Given the description of an element on the screen output the (x, y) to click on. 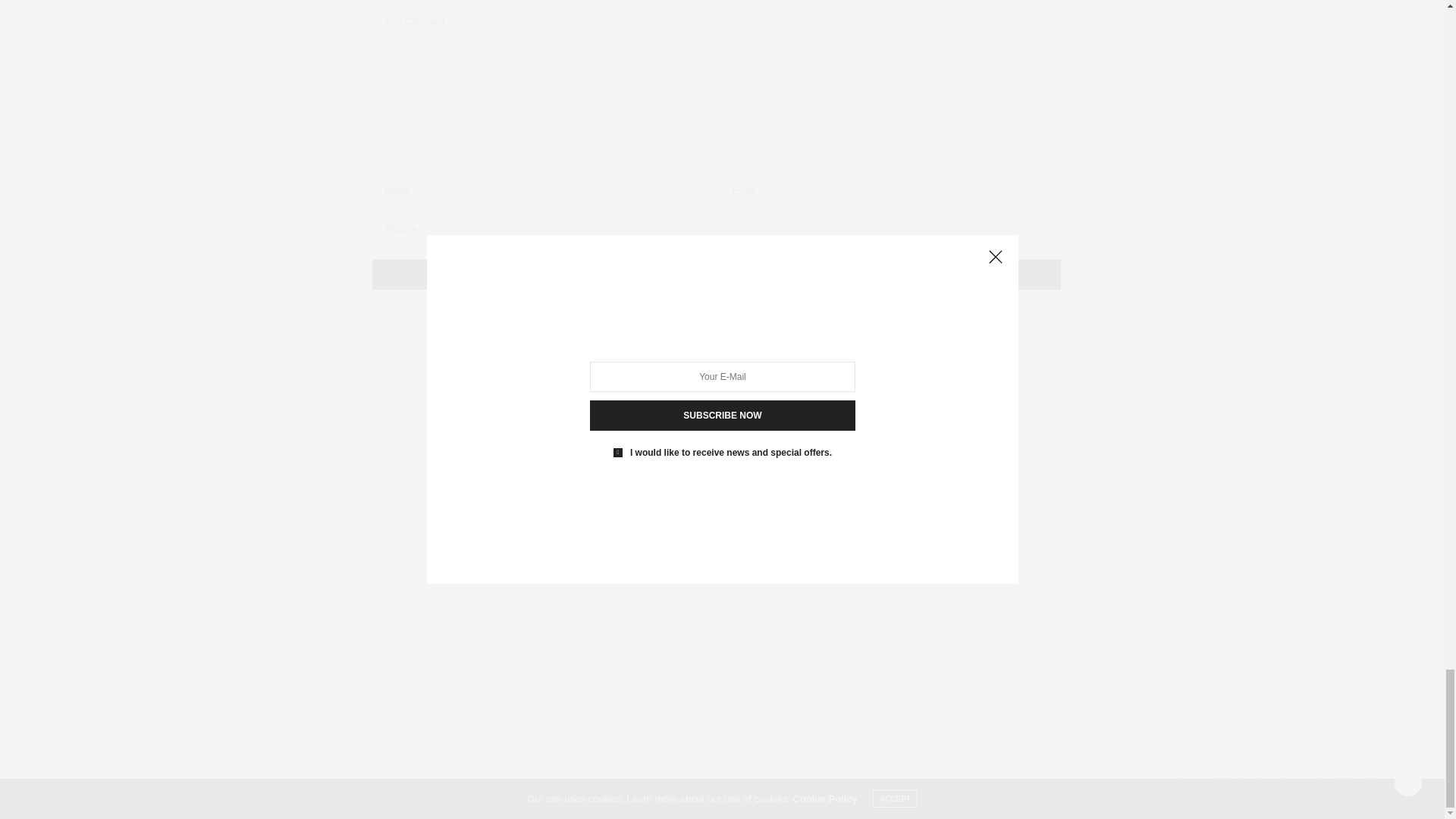
Submit Comment (716, 274)
